Given the description of an element on the screen output the (x, y) to click on. 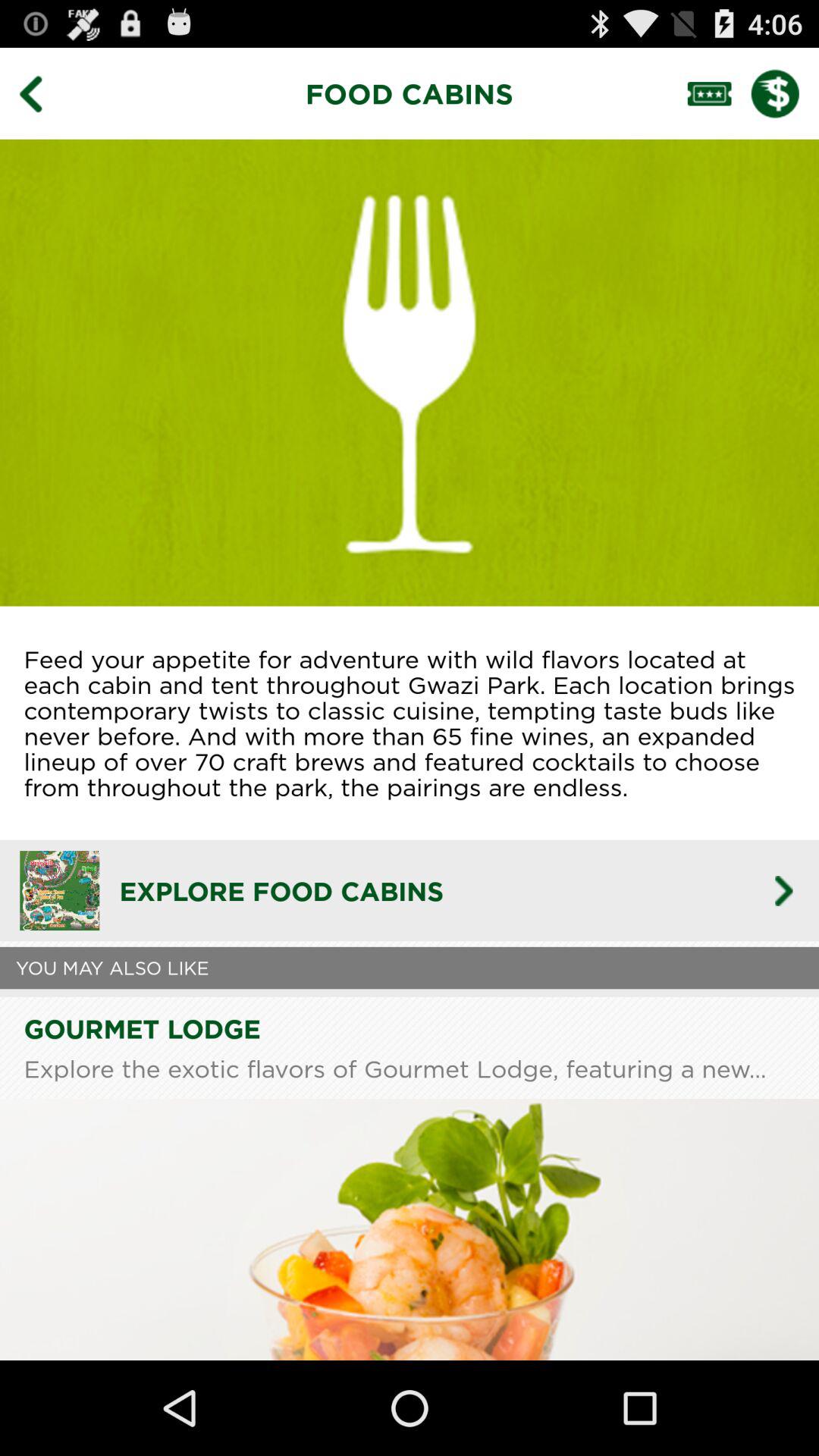
go to donate (785, 93)
